Given the description of an element on the screen output the (x, y) to click on. 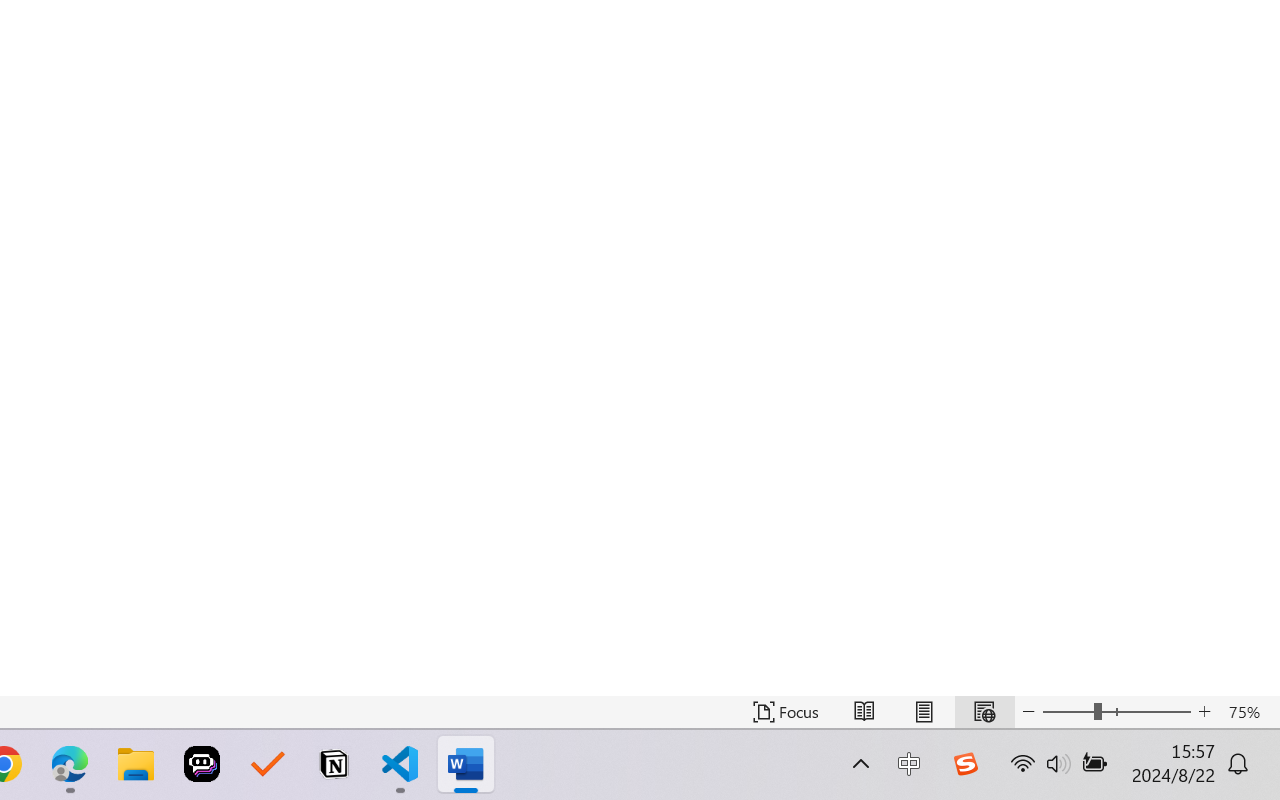
Focus  (786, 712)
Print Layout (924, 712)
Read Mode (864, 712)
Zoom Out (1067, 712)
Class: Image (965, 764)
Zoom 75% (1249, 712)
Zoom (1116, 712)
Zoom In (1204, 712)
Web Layout (984, 712)
